Given the description of an element on the screen output the (x, y) to click on. 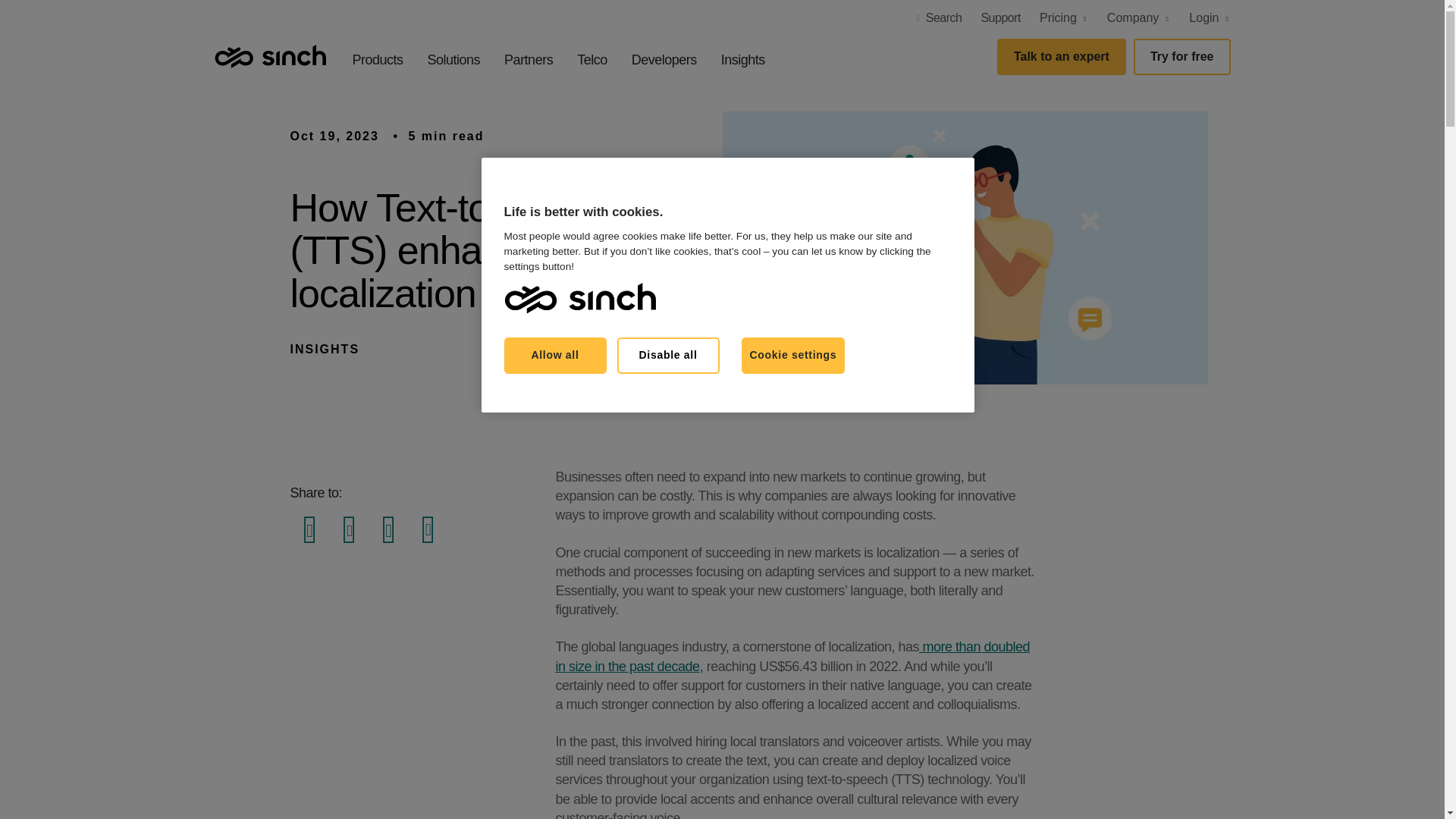
Company (1132, 18)
Login (1203, 18)
Pricing (1058, 18)
Search (938, 17)
Products (377, 58)
Support (999, 17)
